Given the description of an element on the screen output the (x, y) to click on. 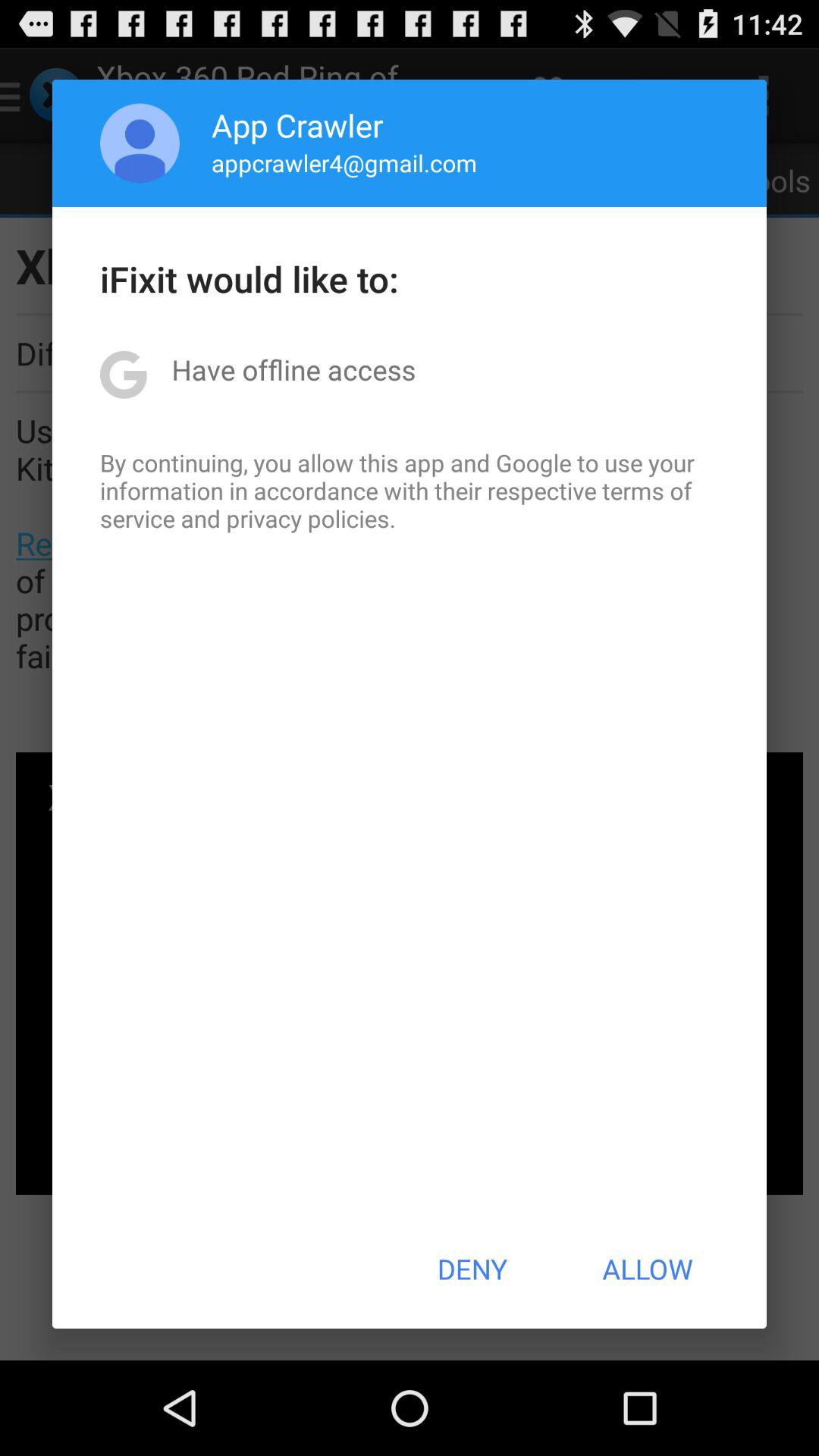
open appcrawler4@gmail.com icon (344, 162)
